Given the description of an element on the screen output the (x, y) to click on. 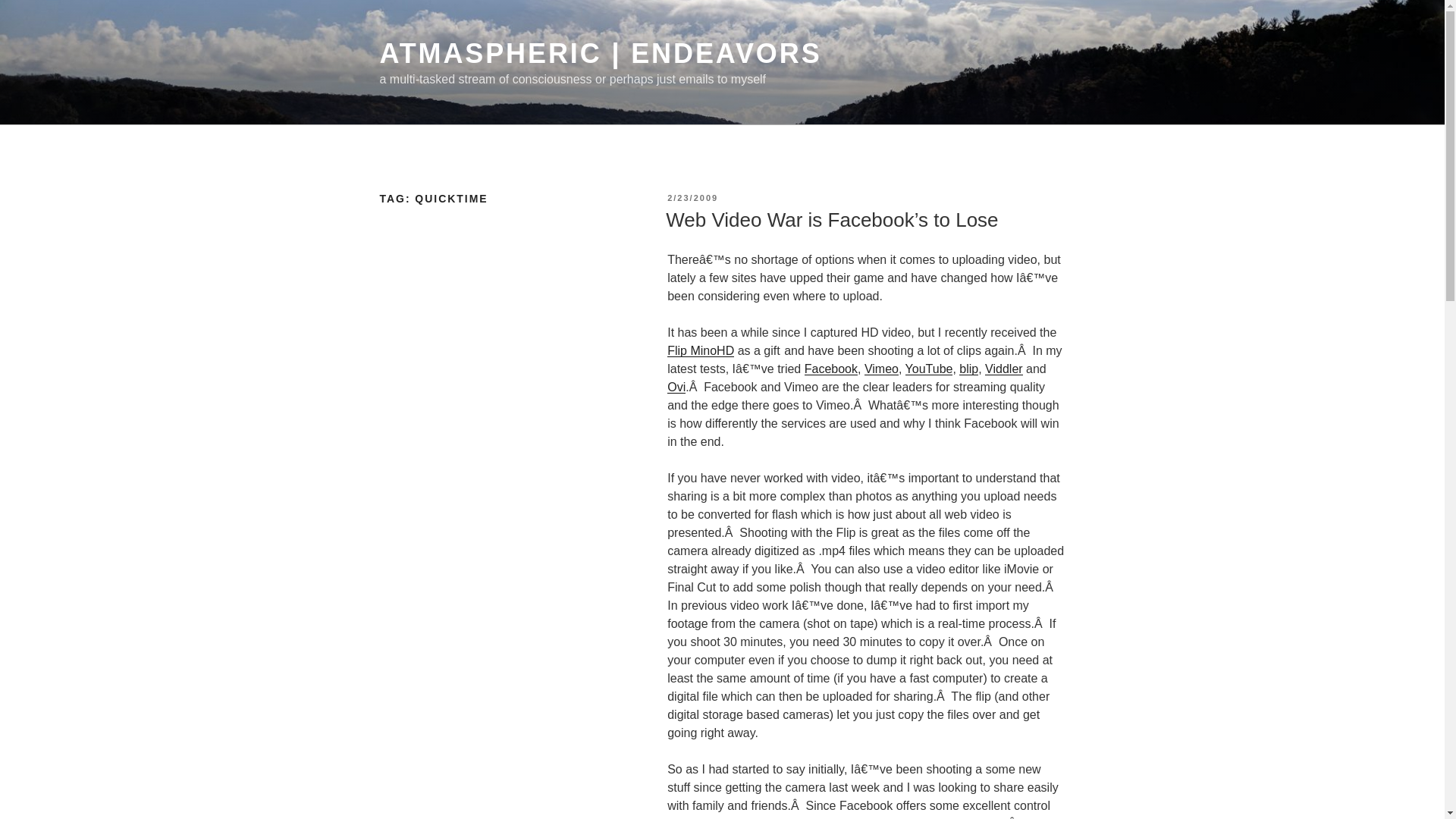
YouTube (929, 368)
Flip MinoHD (699, 350)
Facebook (831, 368)
Vimeo (881, 368)
Viddler (1004, 368)
blip (968, 368)
Ovi (675, 386)
